Given the description of an element on the screen output the (x, y) to click on. 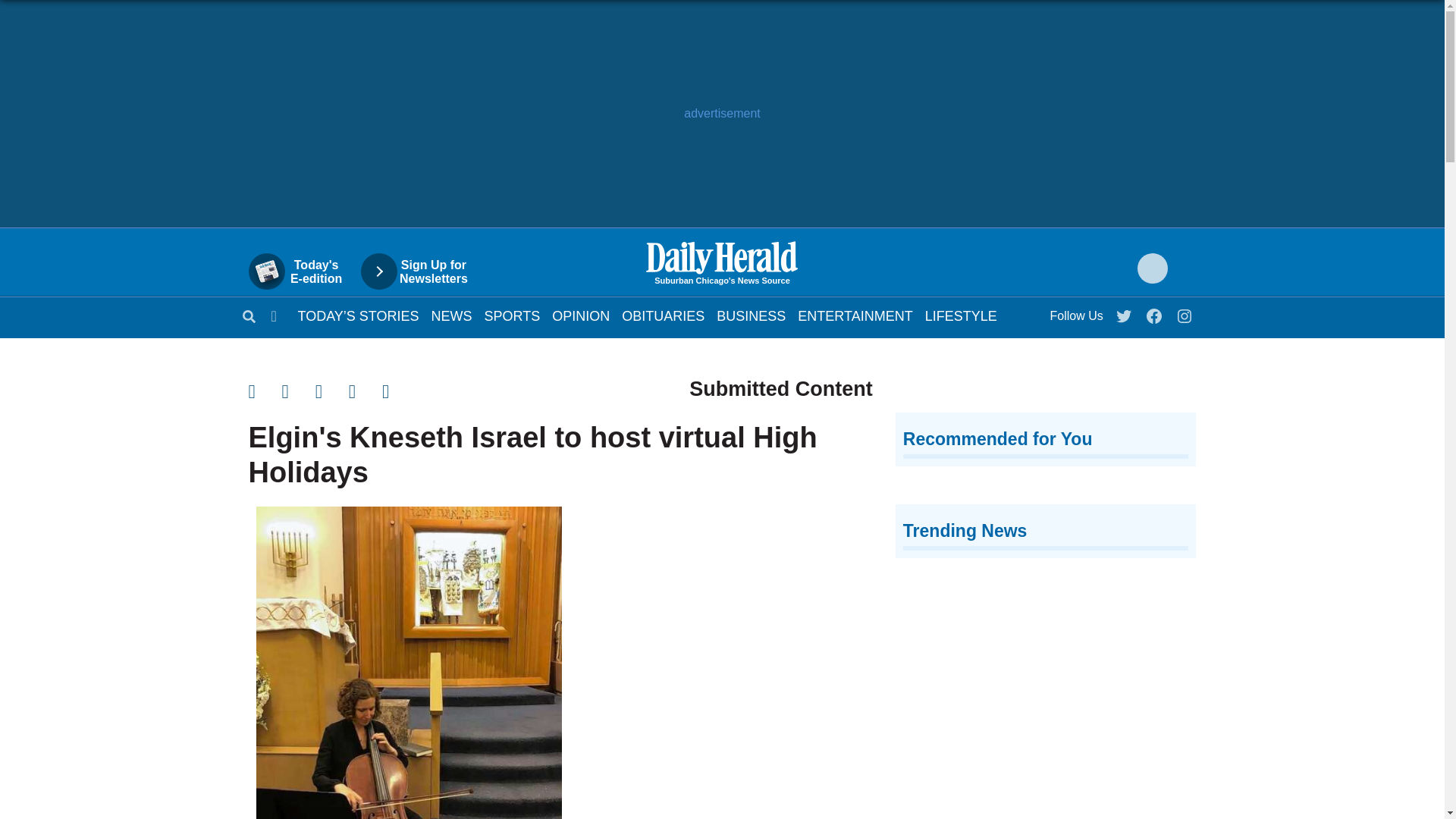
OBITUARIES (662, 315)
Business (751, 315)
Today's Stories (358, 315)
SPORTS (512, 315)
News (450, 315)
Share via Email (332, 391)
Lifestyle (960, 315)
OPINION (580, 315)
ENTERTAINMENT (854, 315)
